Given the description of an element on the screen output the (x, y) to click on. 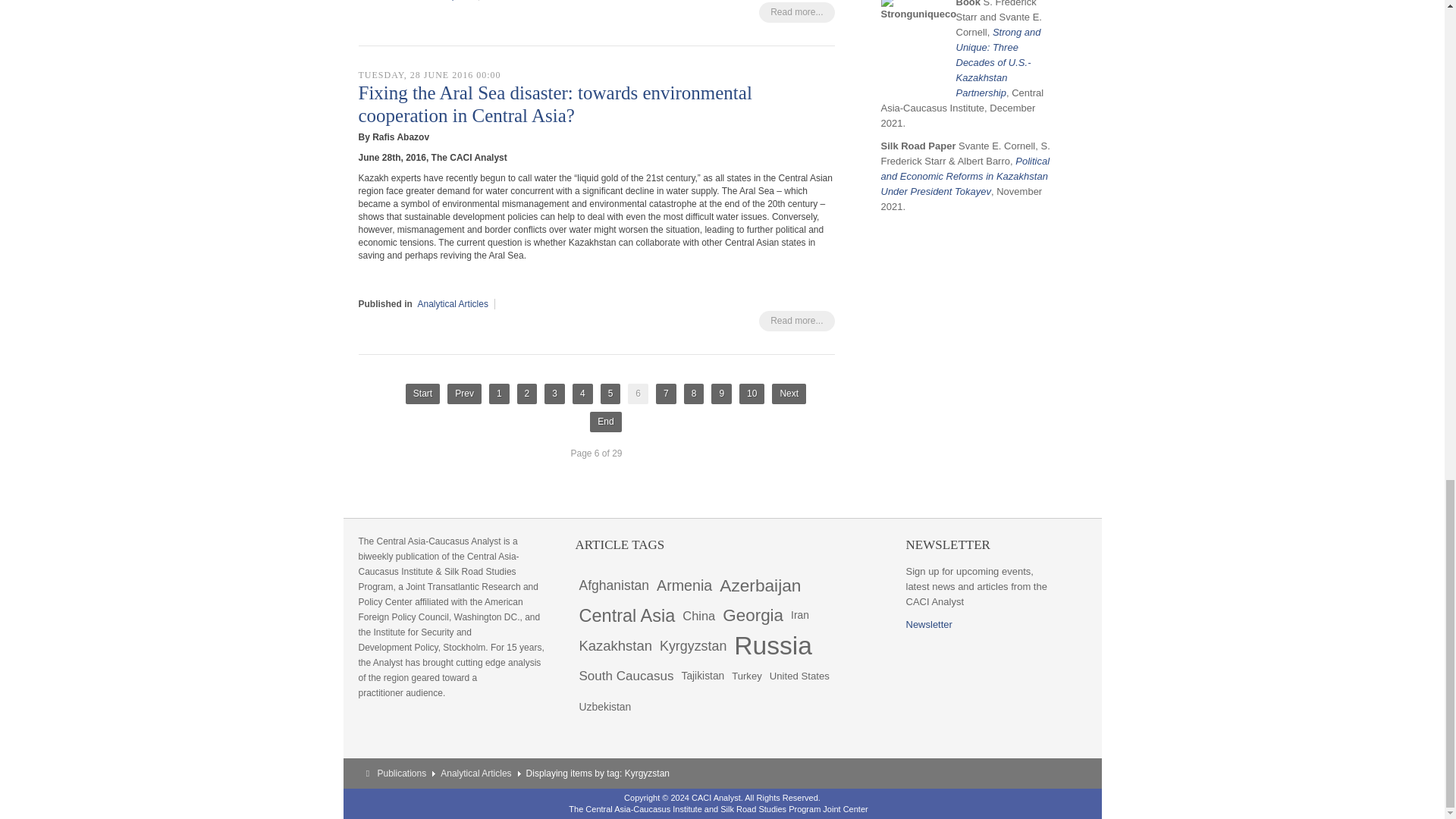
Field Reports (444, 0)
7 (666, 394)
Start (422, 394)
3 (554, 394)
Prev (463, 394)
3 (554, 394)
Prev (463, 394)
4 (582, 394)
Read more... (796, 321)
2 (526, 394)
9 (721, 394)
1 (499, 394)
Analytical Articles (452, 303)
114 items tagged with Afghanistan (613, 585)
